Given the description of an element on the screen output the (x, y) to click on. 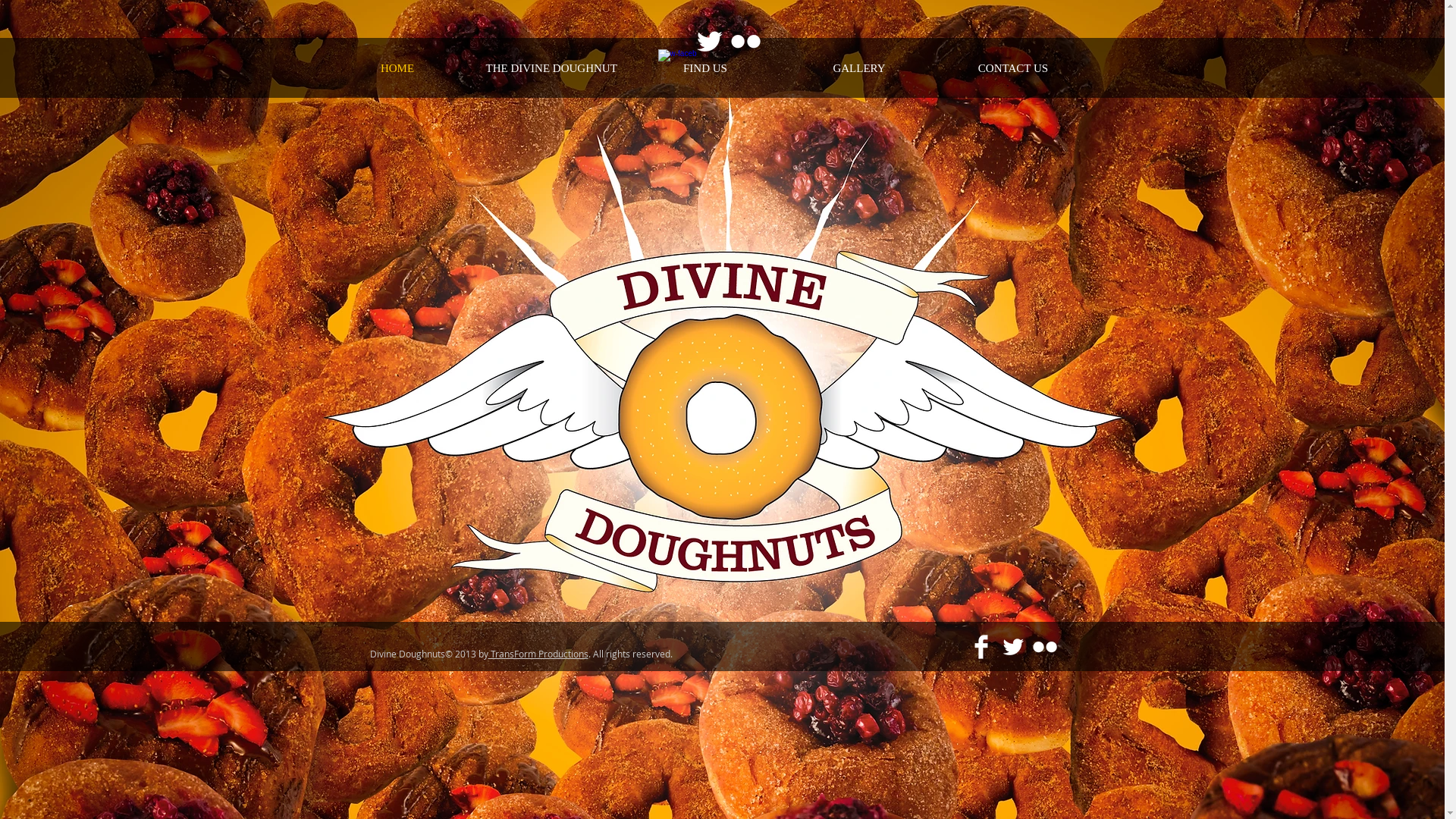
TransForm Productions Element type: text (538, 653)
HOME Element type: text (396, 68)
CONTACT US Element type: text (1012, 68)
FIND US Element type: text (704, 68)
THE DIVINE DOUGHNUT Element type: text (551, 68)
GALLERY Element type: text (859, 68)
